Given the description of an element on the screen output the (x, y) to click on. 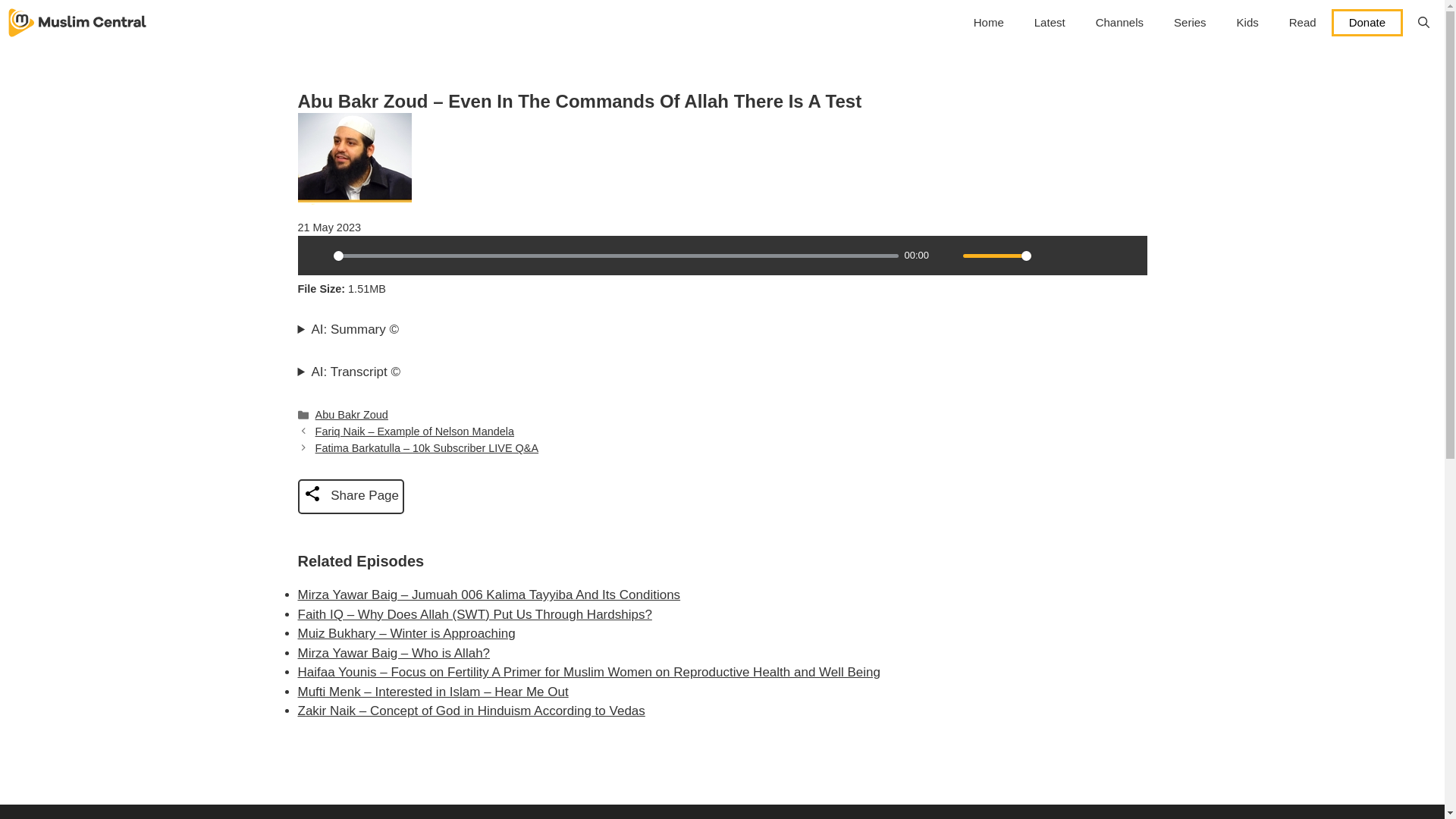
Donate (1367, 22)
Series (1189, 22)
Rewind 10s (1101, 255)
Channels (1119, 22)
Mute (946, 255)
Muslim Central (77, 22)
Play (316, 255)
0 (615, 255)
Download (1074, 255)
Settings (1048, 255)
Latest (1049, 22)
Forward 10s (1126, 255)
1 (996, 255)
Abu Bakr Zoud (351, 414)
Home (988, 22)
